Given the description of an element on the screen output the (x, y) to click on. 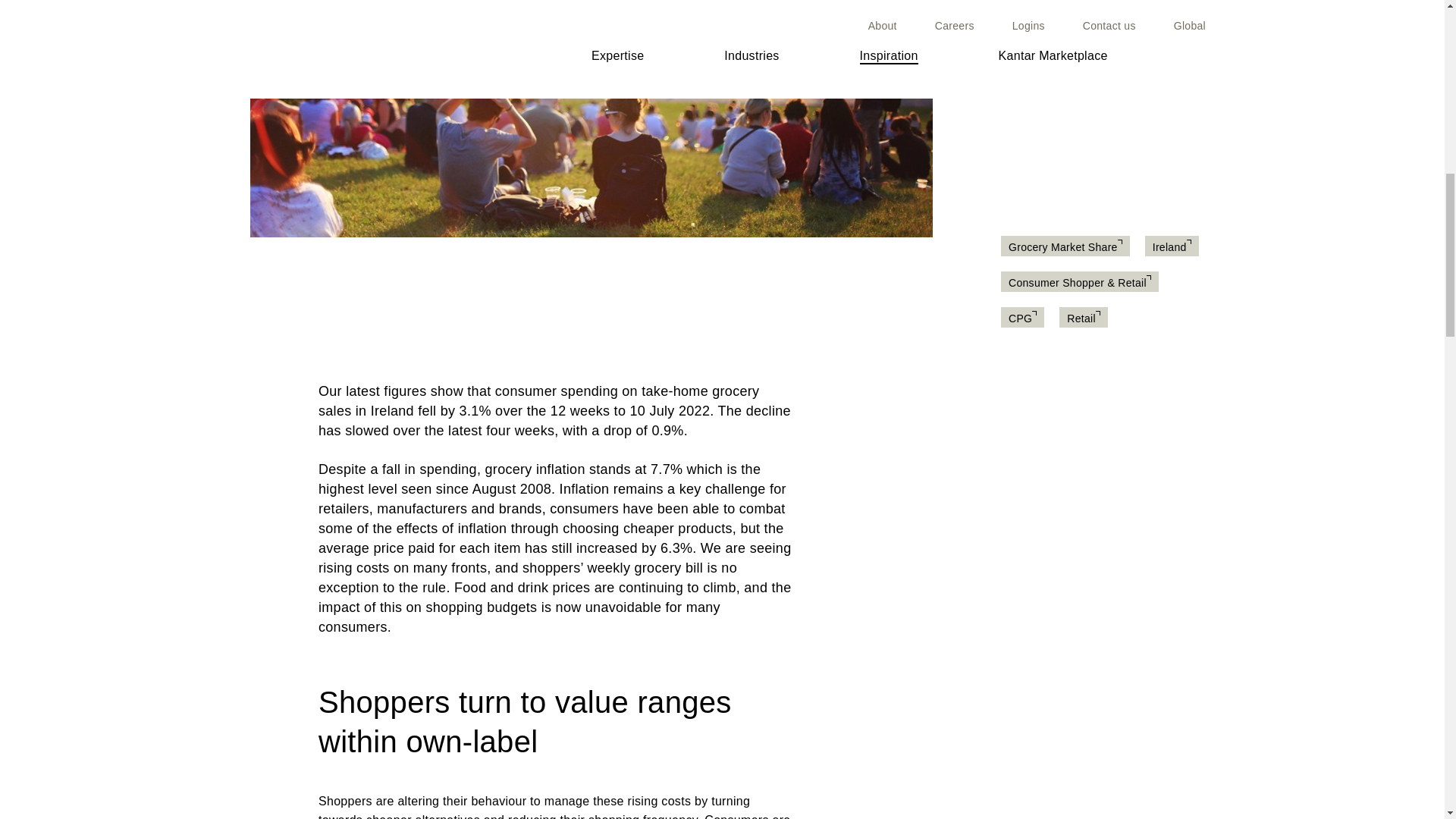
Consumer Shopper Retail (1080, 282)
Retail (1083, 318)
CPG (1022, 318)
Grocery Market Share (1065, 246)
Ireland (1172, 246)
